Given the description of an element on the screen output the (x, y) to click on. 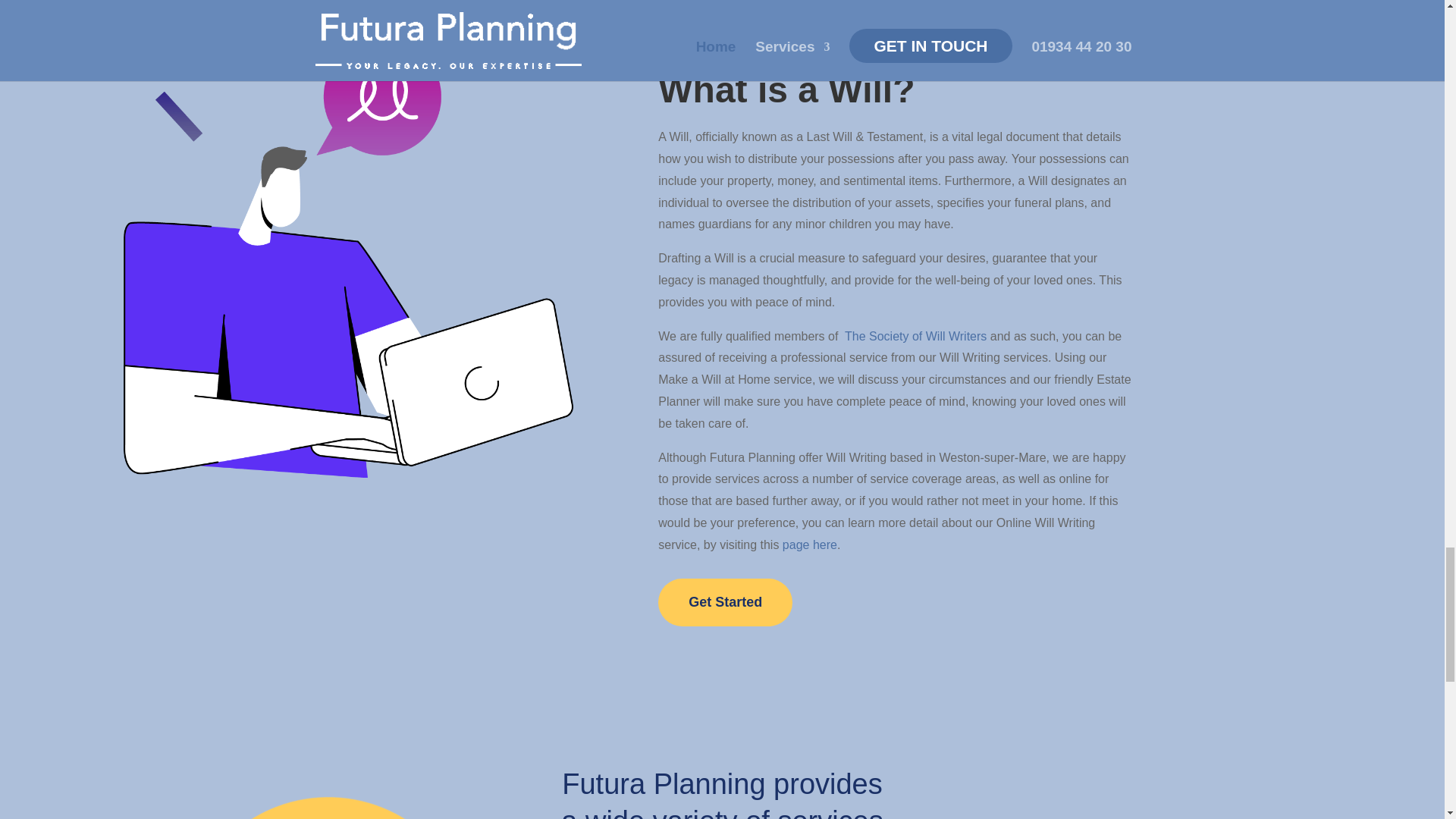
The Society of Will Writers (915, 336)
Get Started (725, 602)
page here (810, 544)
